Given the description of an element on the screen output the (x, y) to click on. 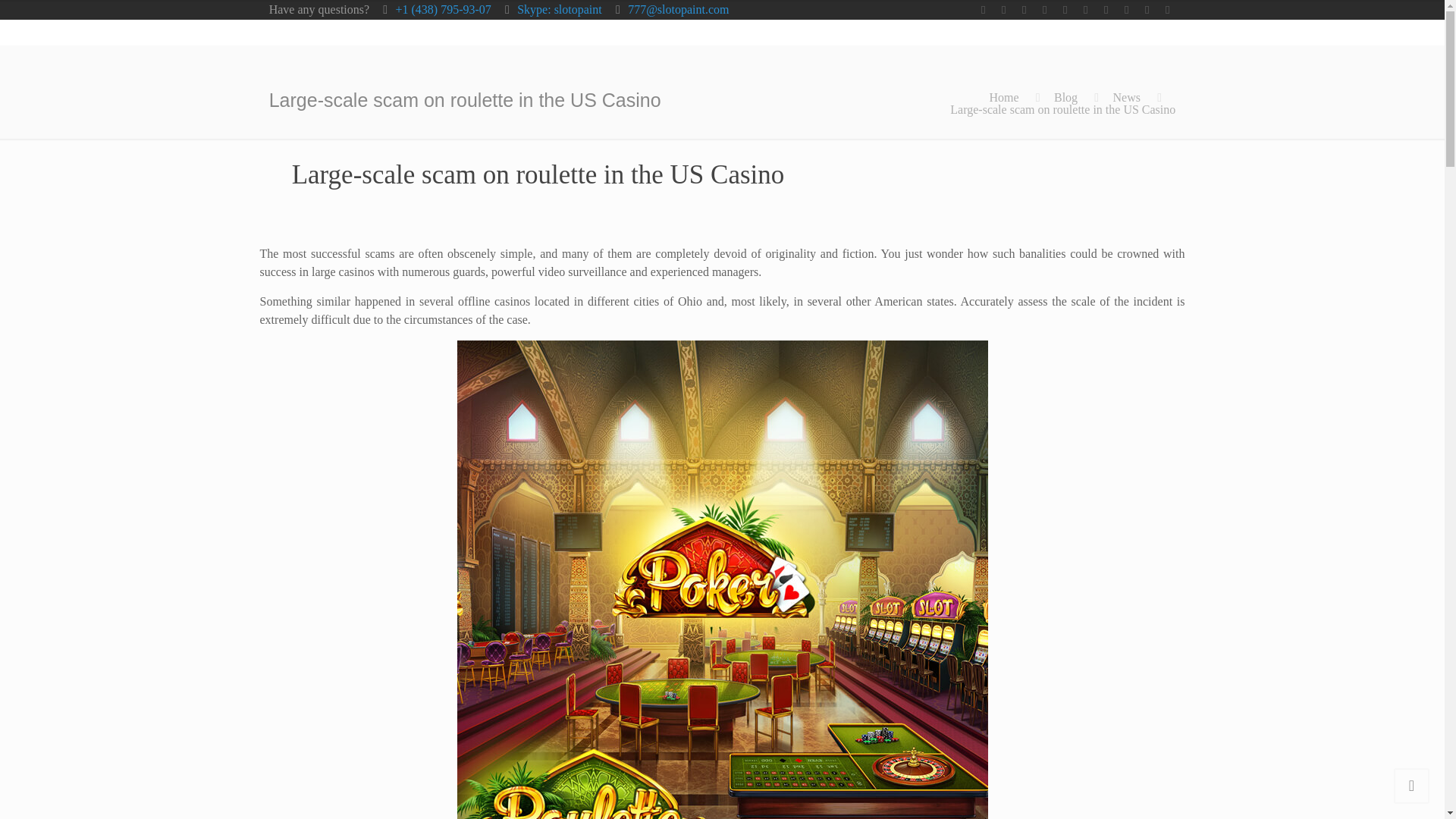
LinkedIn (1085, 9)
Twitter (1024, 9)
Pinterest (1105, 9)
Blog (1065, 97)
Skype: slotopaint (559, 9)
Instagram (1146, 9)
News (1126, 97)
Large-scale scam on roulette in the US Casino (1062, 109)
Home (1002, 97)
Behance (1166, 9)
